Given the description of an element on the screen output the (x, y) to click on. 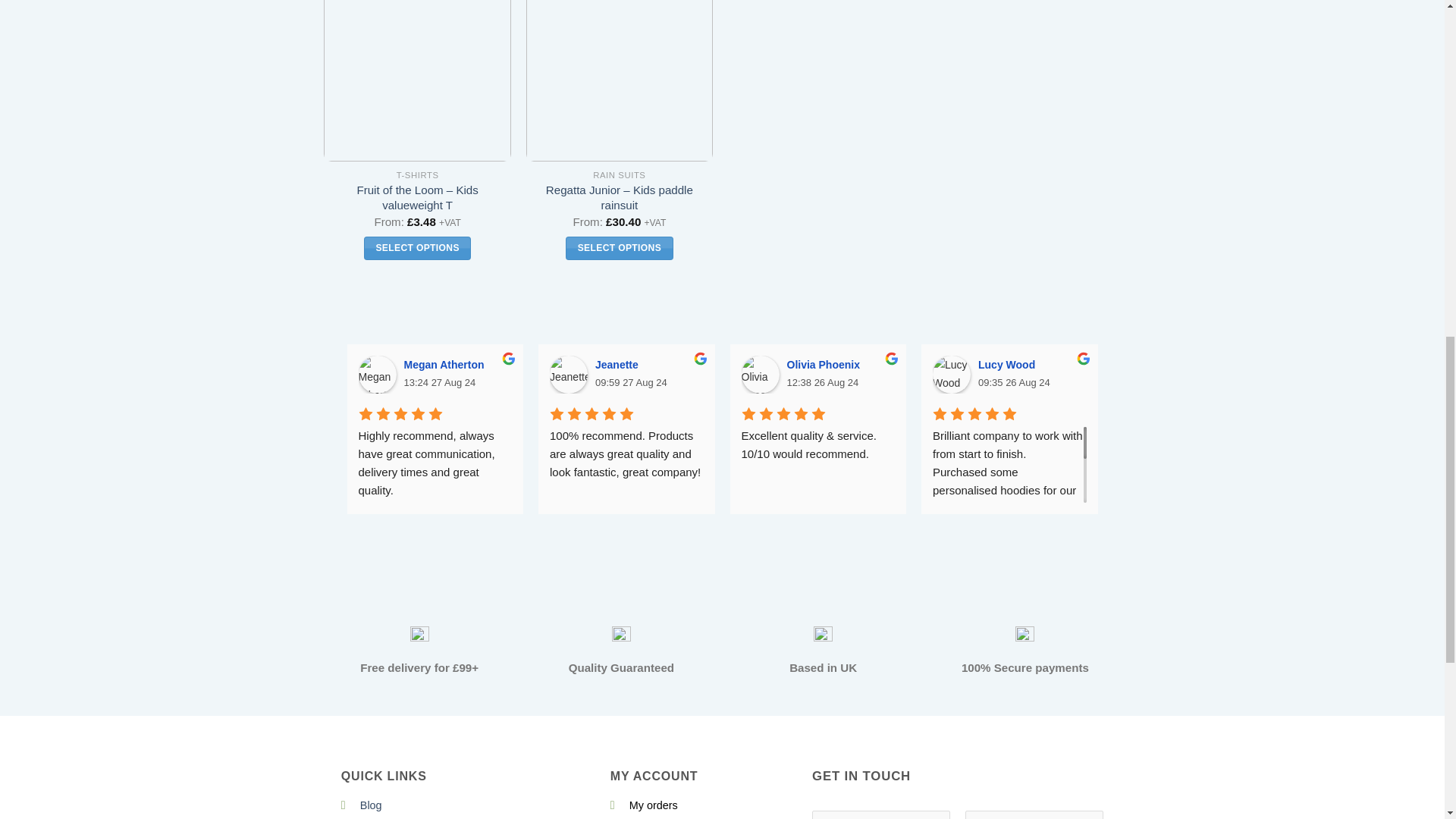
Lucy Wood (952, 374)
Olivia Phoenix (759, 374)
Jeanette (569, 374)
ZFrankie95 (1335, 374)
Megan Atherton (377, 374)
paul vultur (1142, 374)
